Given the description of an element on the screen output the (x, y) to click on. 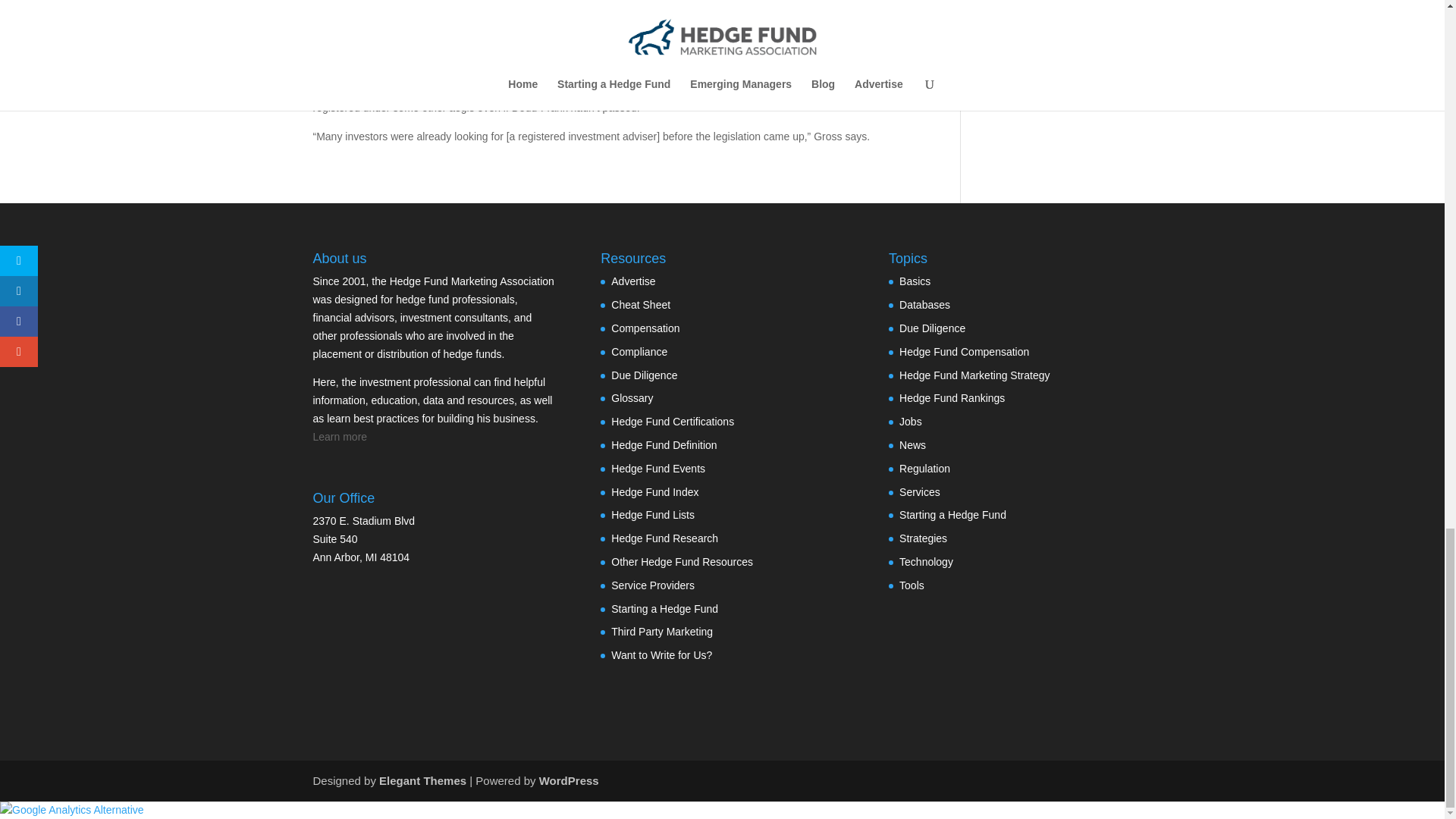
Advertise on this Site (633, 281)
Cheat Sheet (640, 304)
Premium WordPress Themes (421, 780)
Compensation (645, 328)
Google Analytics Alternative (72, 809)
Learn more (339, 436)
Advertise (633, 281)
Hedge Fund Service Providers (652, 585)
Compliance (638, 351)
